Given the description of an element on the screen output the (x, y) to click on. 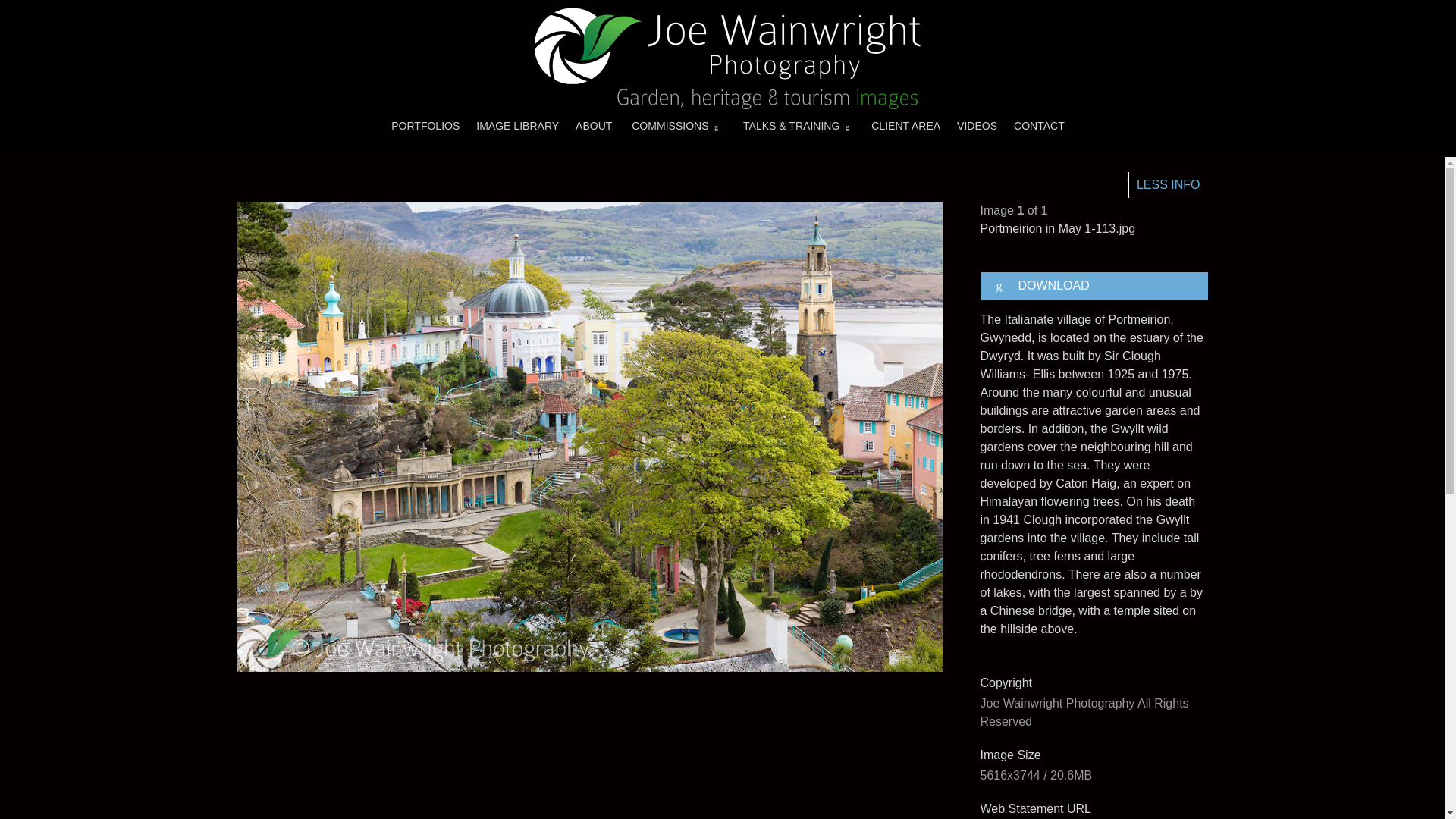
JOE WAINWRIGHT PHOTOGRAPHY (727, 57)
DOWNLOAD (1093, 285)
PORTFOLIOS (425, 125)
Info (1168, 185)
VIDEOS (976, 125)
IMAGE LIBRARY (517, 125)
Joe Wainwright Photography (727, 57)
CONTACT (1038, 125)
ABOUT (593, 125)
CLIENT AREA (905, 125)
